Given the description of an element on the screen output the (x, y) to click on. 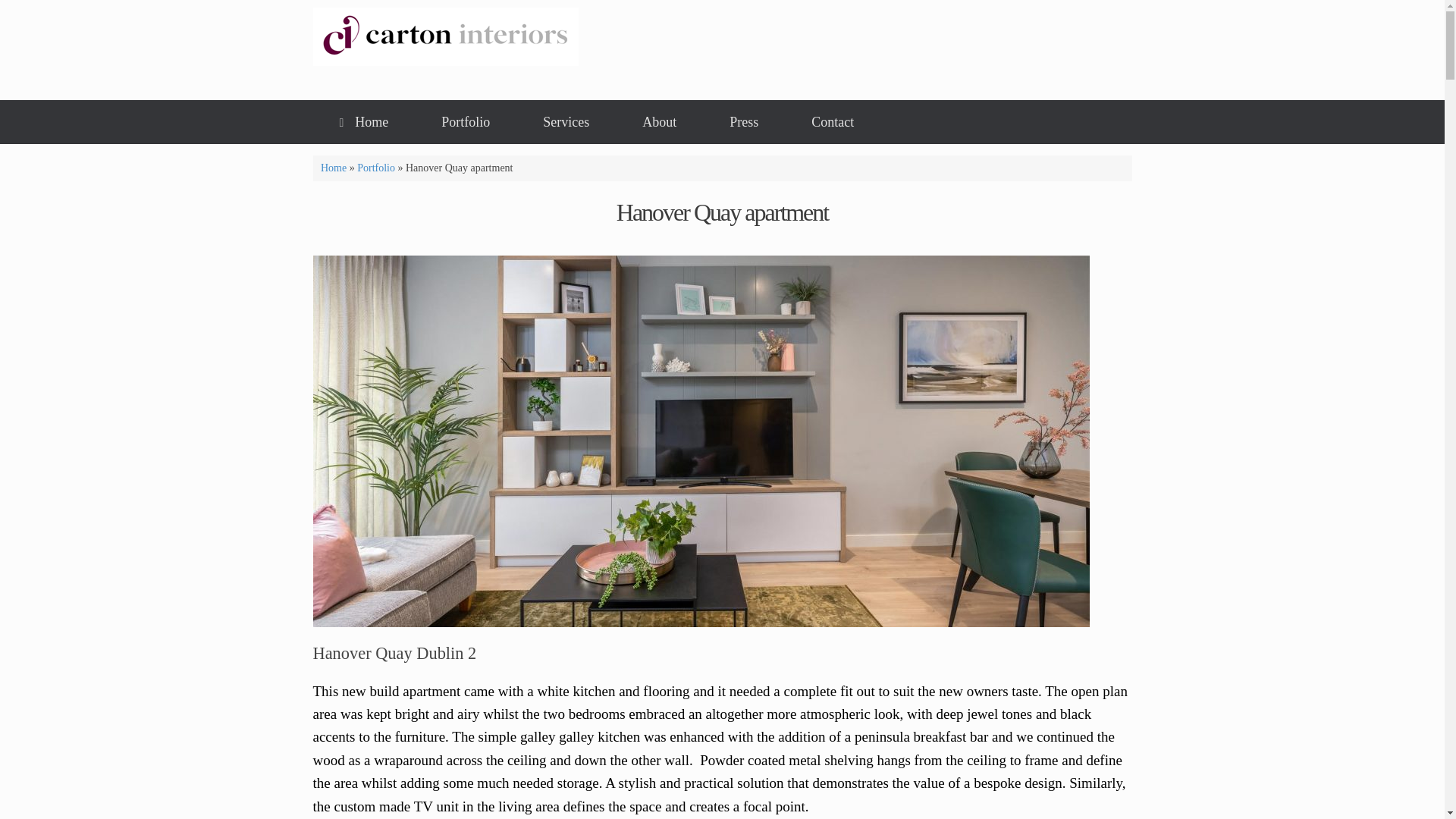
Home (363, 121)
Carton Interiors (445, 36)
Home (333, 167)
Portfolio (465, 121)
Press (743, 121)
Portfolio (375, 167)
About (659, 121)
Services (565, 121)
Contact (832, 121)
